Given the description of an element on the screen output the (x, y) to click on. 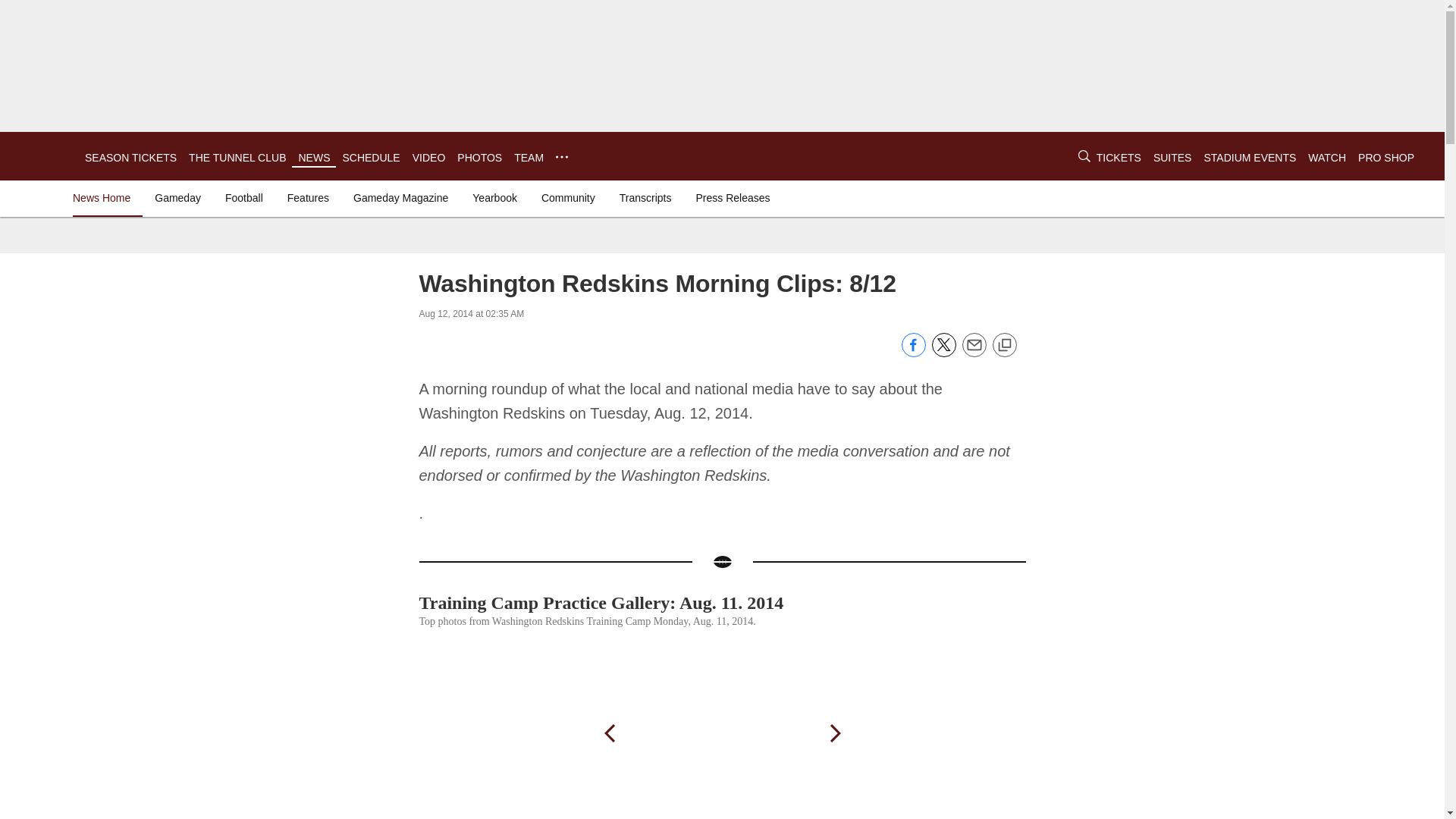
PHOTOS (479, 157)
TICKETS (1118, 157)
PRO SHOP (1385, 157)
THE TUNNEL CLUB (237, 157)
Features (307, 197)
VIDEO (428, 157)
SEASON TICKETS (130, 157)
STADIUM EVENTS (1249, 157)
SCHEDULE (370, 157)
TEAM (528, 157)
